Given the description of an element on the screen output the (x, y) to click on. 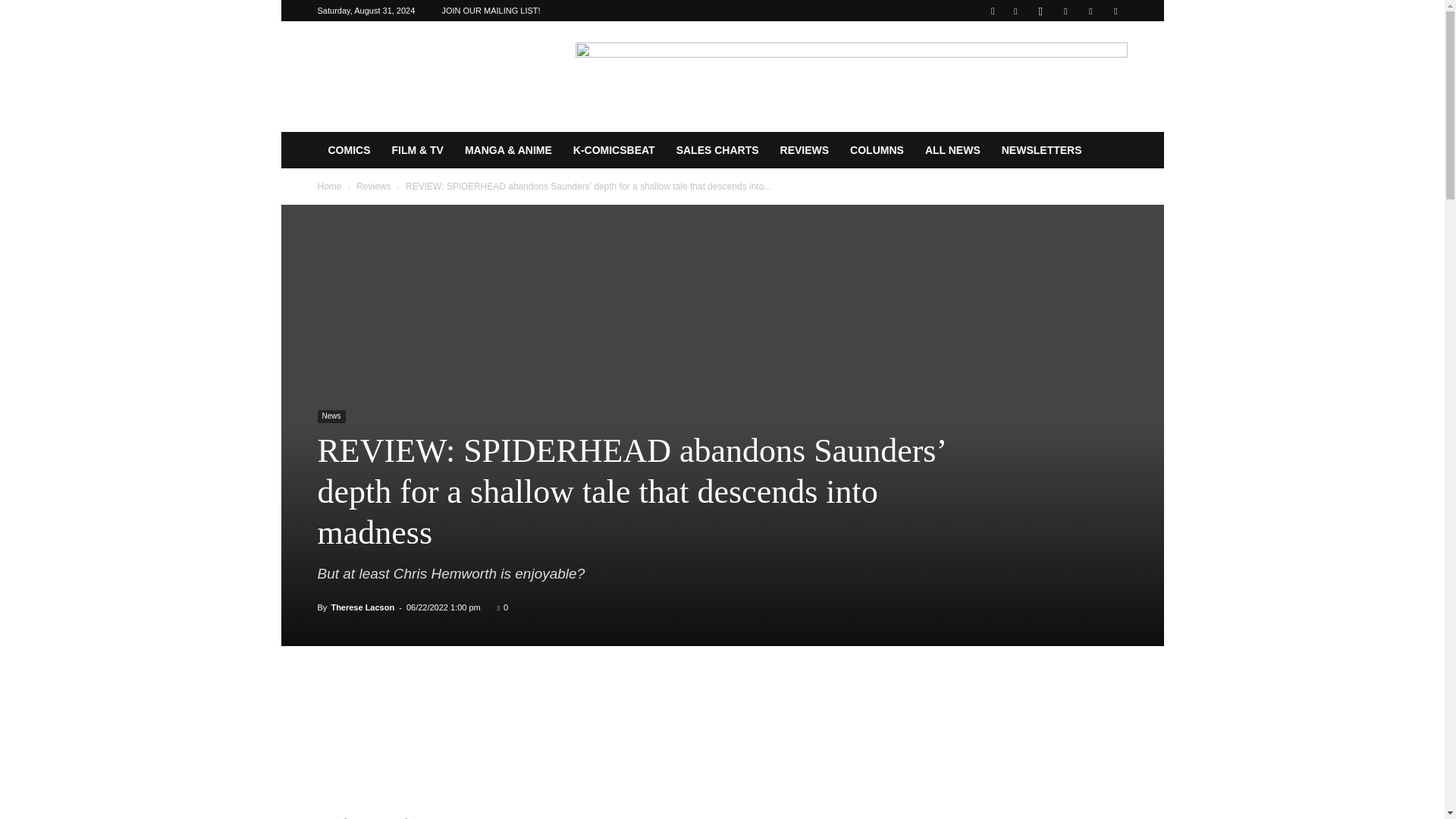
COLUMNS (877, 149)
ALL NEWS (952, 149)
Search (1085, 64)
View all posts in Reviews (373, 185)
REVIEWS (805, 149)
Facebook (1015, 10)
JOIN OUR MAILING LIST! (490, 10)
K-COMICSBEAT (613, 149)
COMICS (348, 149)
SALES CHARTS (717, 149)
